Given the description of an element on the screen output the (x, y) to click on. 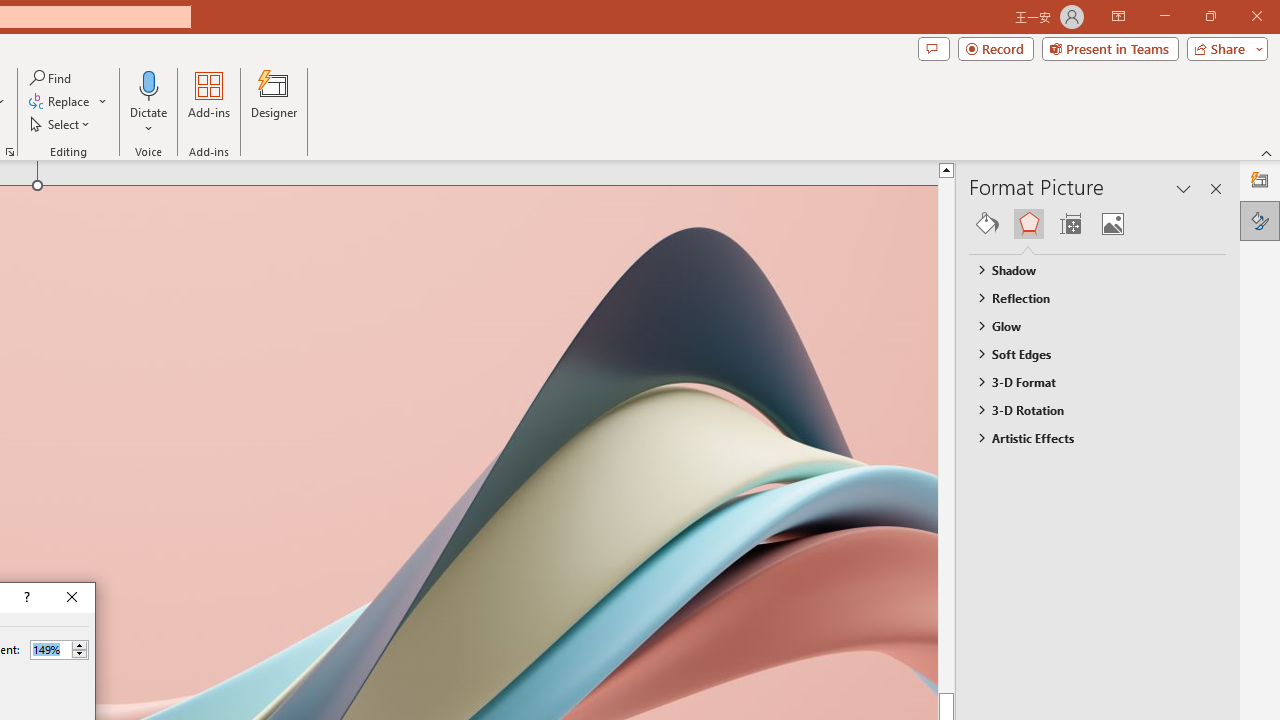
Percent (50, 649)
Format Picture (1260, 220)
Glow (1088, 325)
Line up (983, 169)
More (79, 645)
Page up (983, 434)
Designer (1260, 180)
Reflection (1088, 297)
Designer (274, 102)
Artistic Effects (1088, 438)
Effects (1028, 223)
Size & Properties (1070, 223)
